Given the description of an element on the screen output the (x, y) to click on. 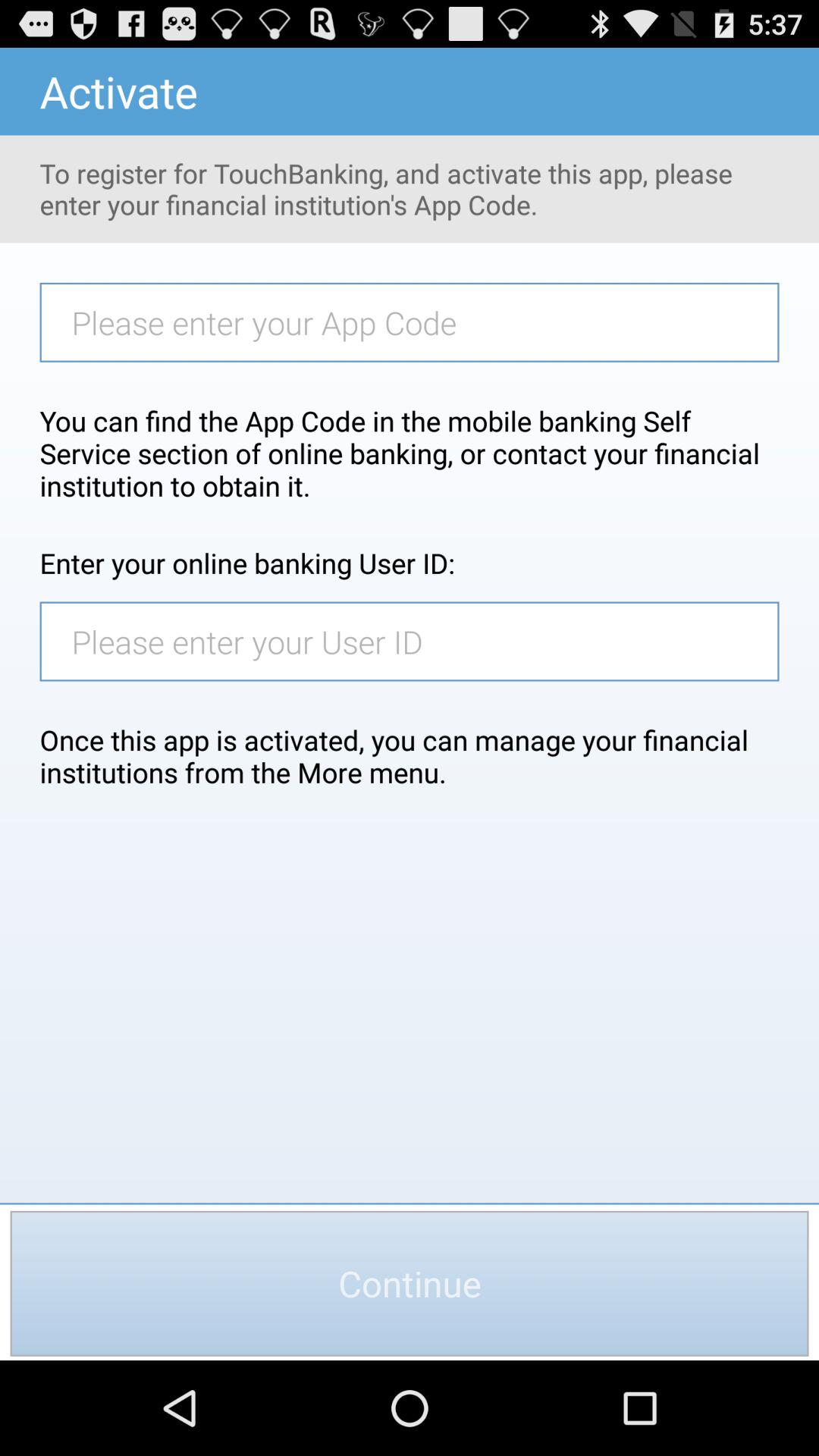
click item below once this app icon (409, 1283)
